Given the description of an element on the screen output the (x, y) to click on. 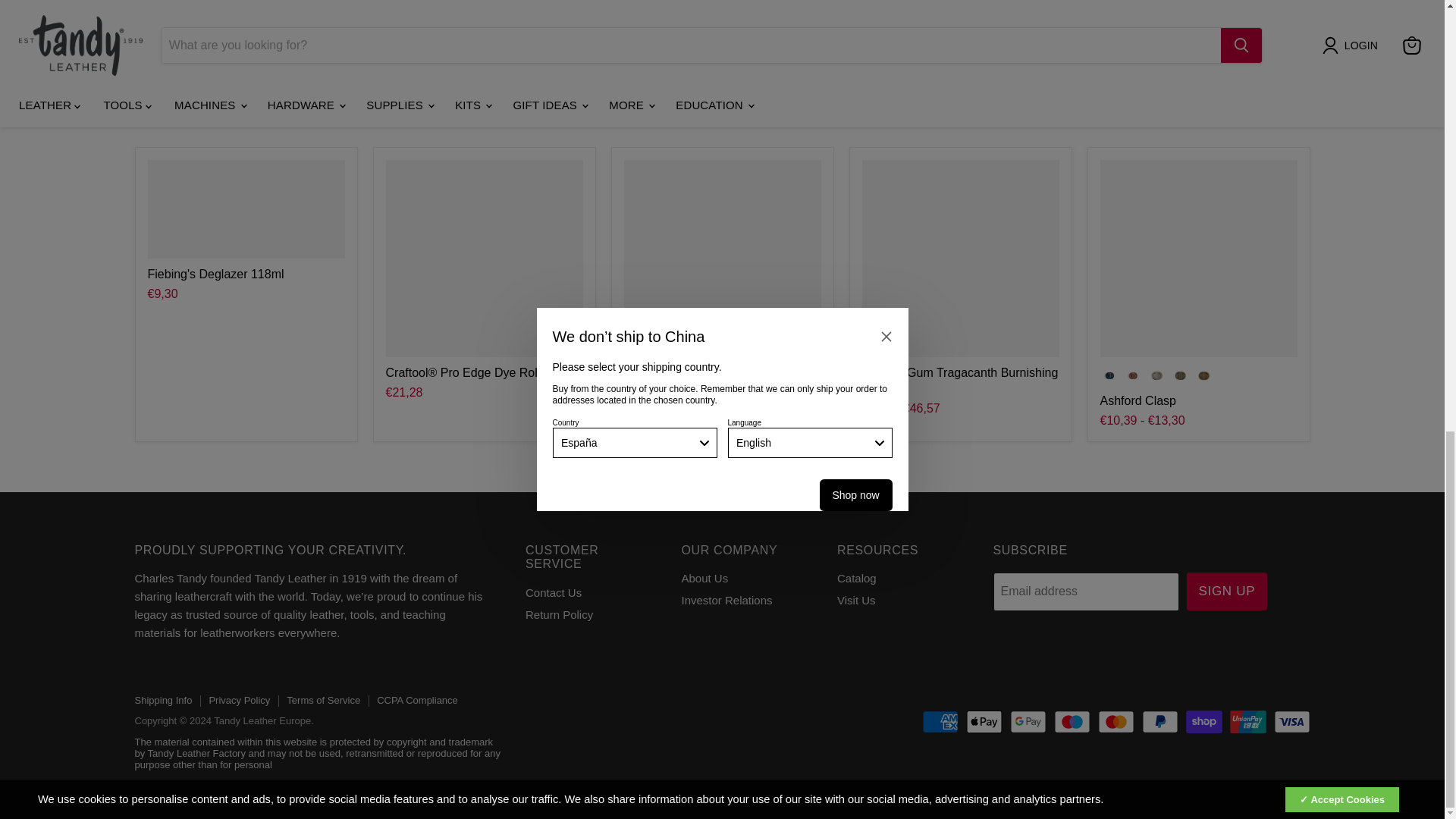
Google Pay (1028, 721)
Apple Pay (984, 721)
American Express (939, 721)
Maestro (1072, 721)
